Given the description of an element on the screen output the (x, y) to click on. 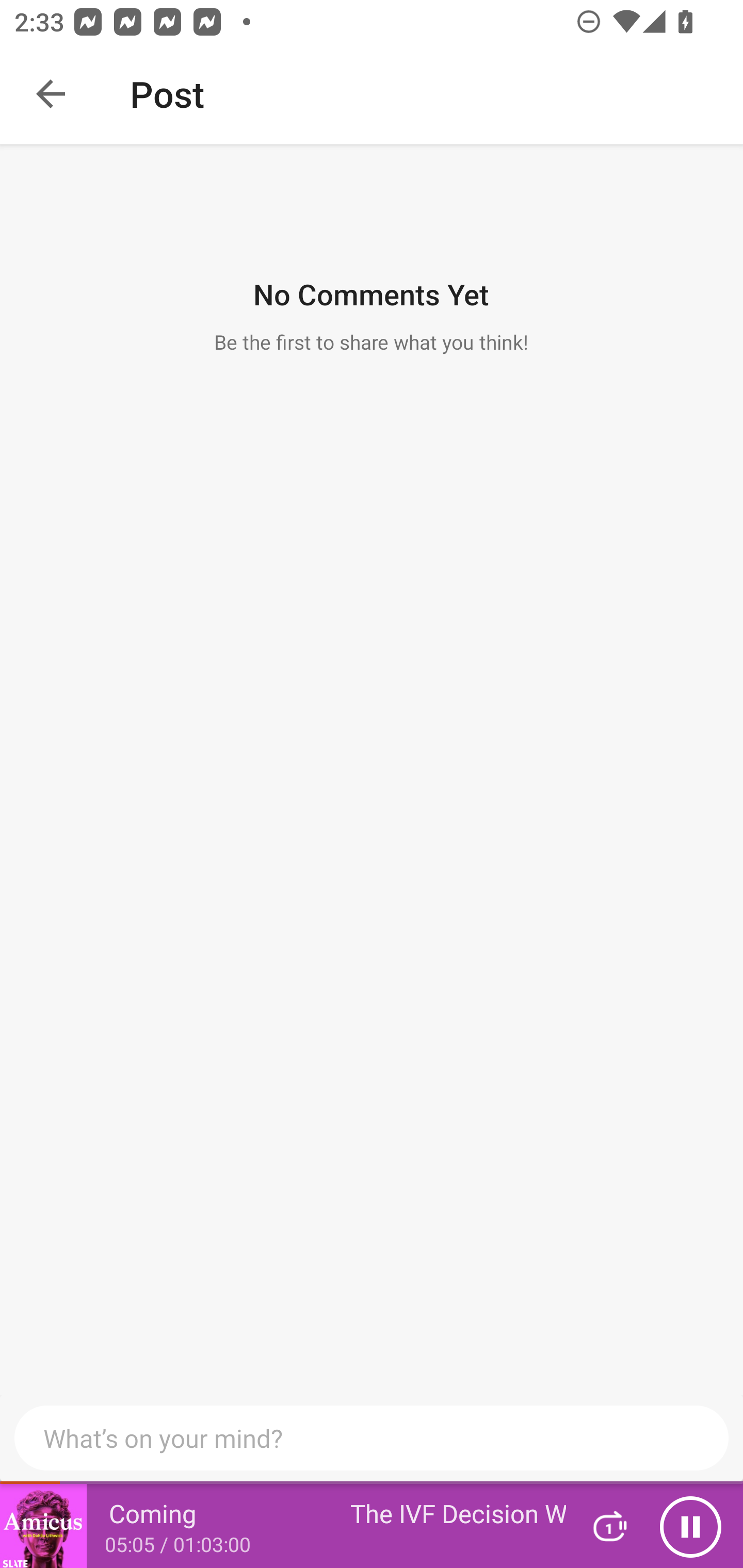
Navigate up (50, 93)
What’s on your mind? (371, 1437)
Pause (690, 1526)
